Given the description of an element on the screen output the (x, y) to click on. 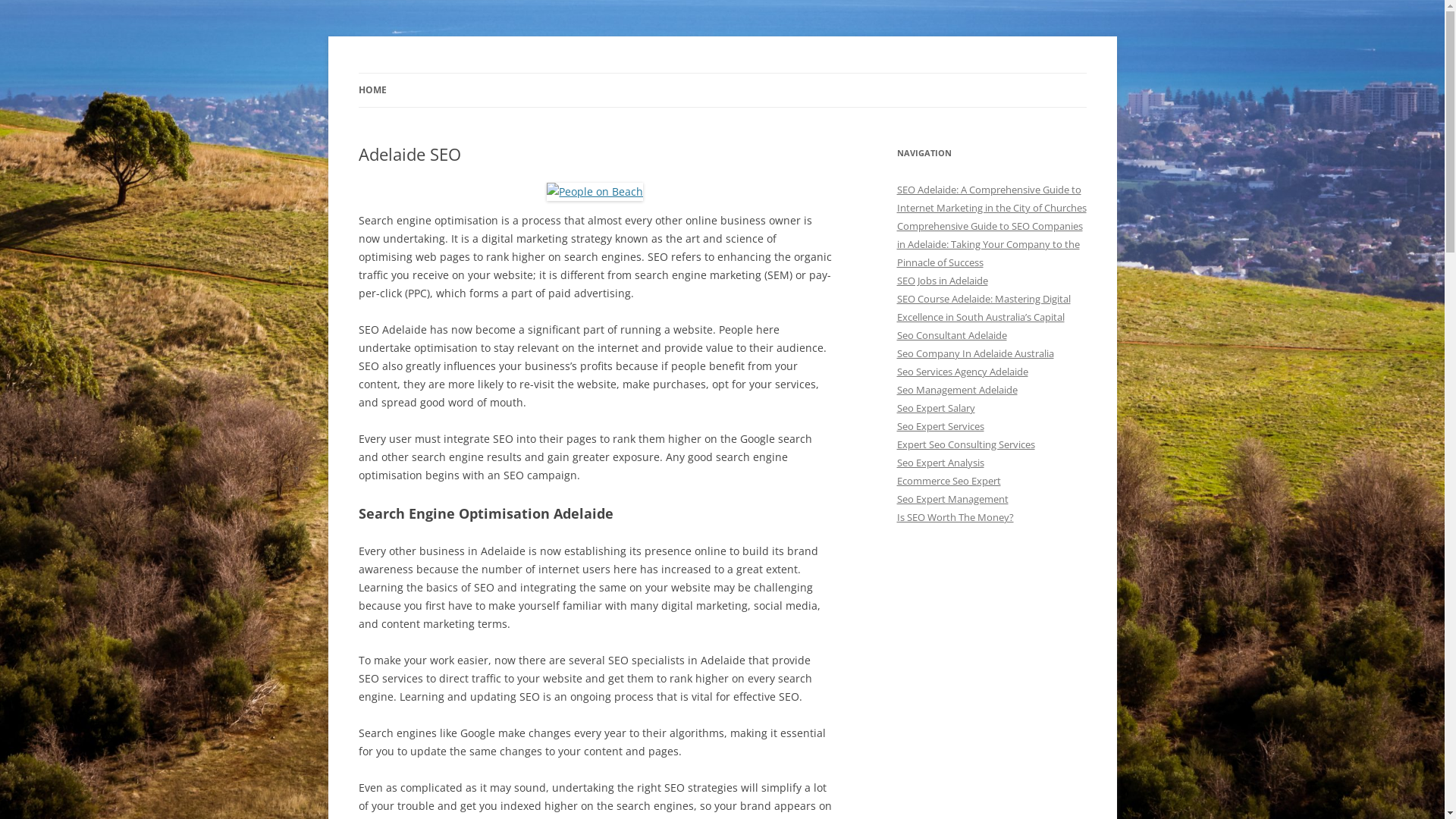
Seo Expert Salary Element type: text (935, 407)
Skip to content Element type: text (721, 72)
Seo Consultant Adelaide Element type: text (951, 335)
Seo Expert Analysis Element type: text (939, 462)
Seo Expert Management Element type: text (951, 498)
Is SEO Worth The Money? Element type: text (954, 517)
Seo Management Adelaide Element type: text (956, 389)
Seo Services Agency Adelaide Element type: text (961, 371)
Seo Expert Services Element type: text (939, 426)
SEO Jobs in Adelaide Element type: text (941, 280)
Seo Company In Adelaide Australia Element type: text (974, 353)
Expert Seo Consulting Services Element type: text (965, 444)
HOME Element type: text (371, 89)
Ninnho Adelaide SEO Agency Element type: text (498, 72)
Ecommerce Seo Expert Element type: text (948, 480)
